Given the description of an element on the screen output the (x, y) to click on. 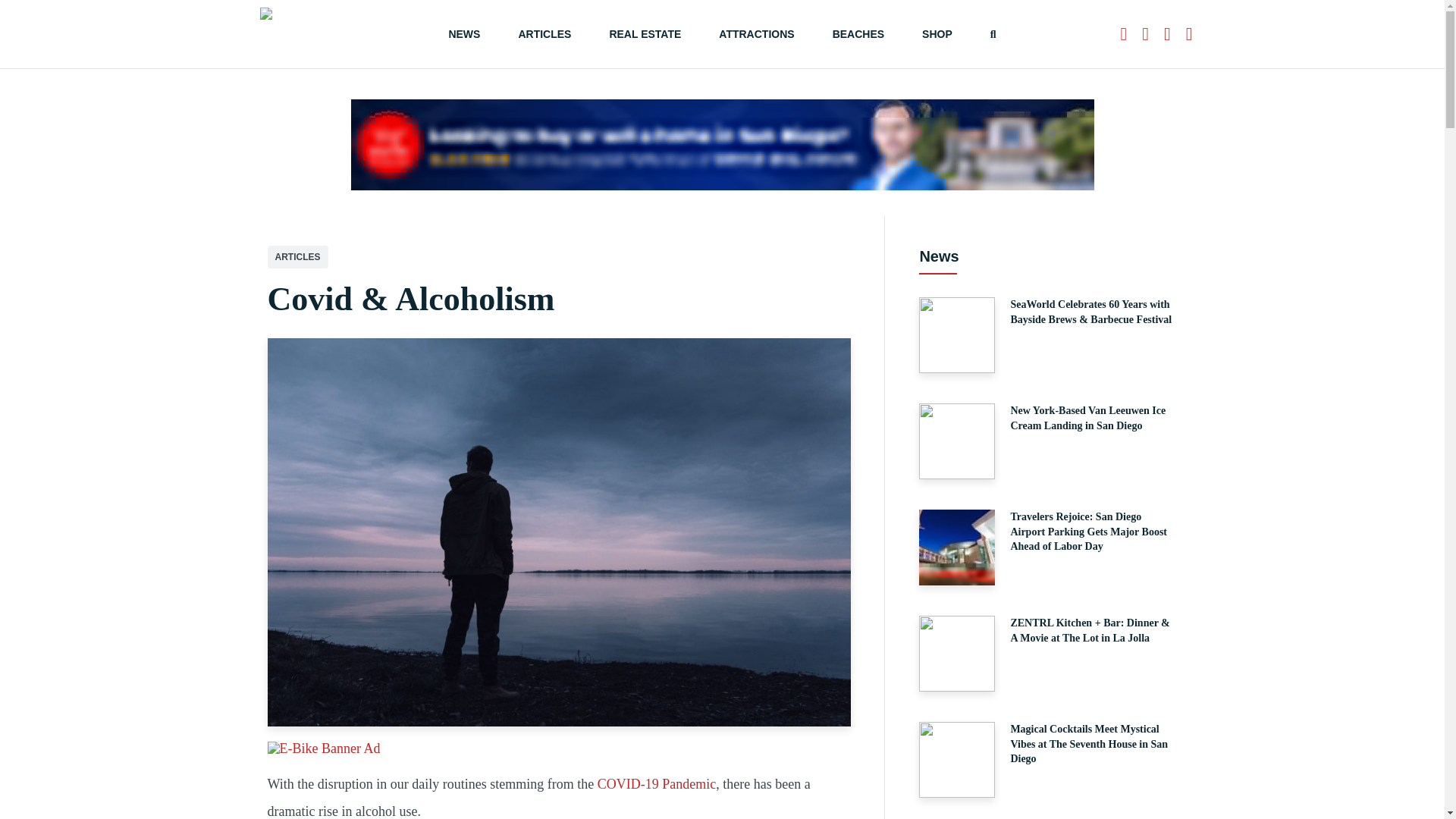
New York-Based Van Leeuwen Ice Cream Landing in San Diego (1047, 441)
NEWS (464, 33)
BEACHES (857, 33)
ATTRACTIONS (756, 33)
ARTICLES (544, 33)
ARTICLES (296, 256)
REAL ESTATE (644, 33)
COVID-19 Pandemic (656, 783)
